Given the description of an element on the screen output the (x, y) to click on. 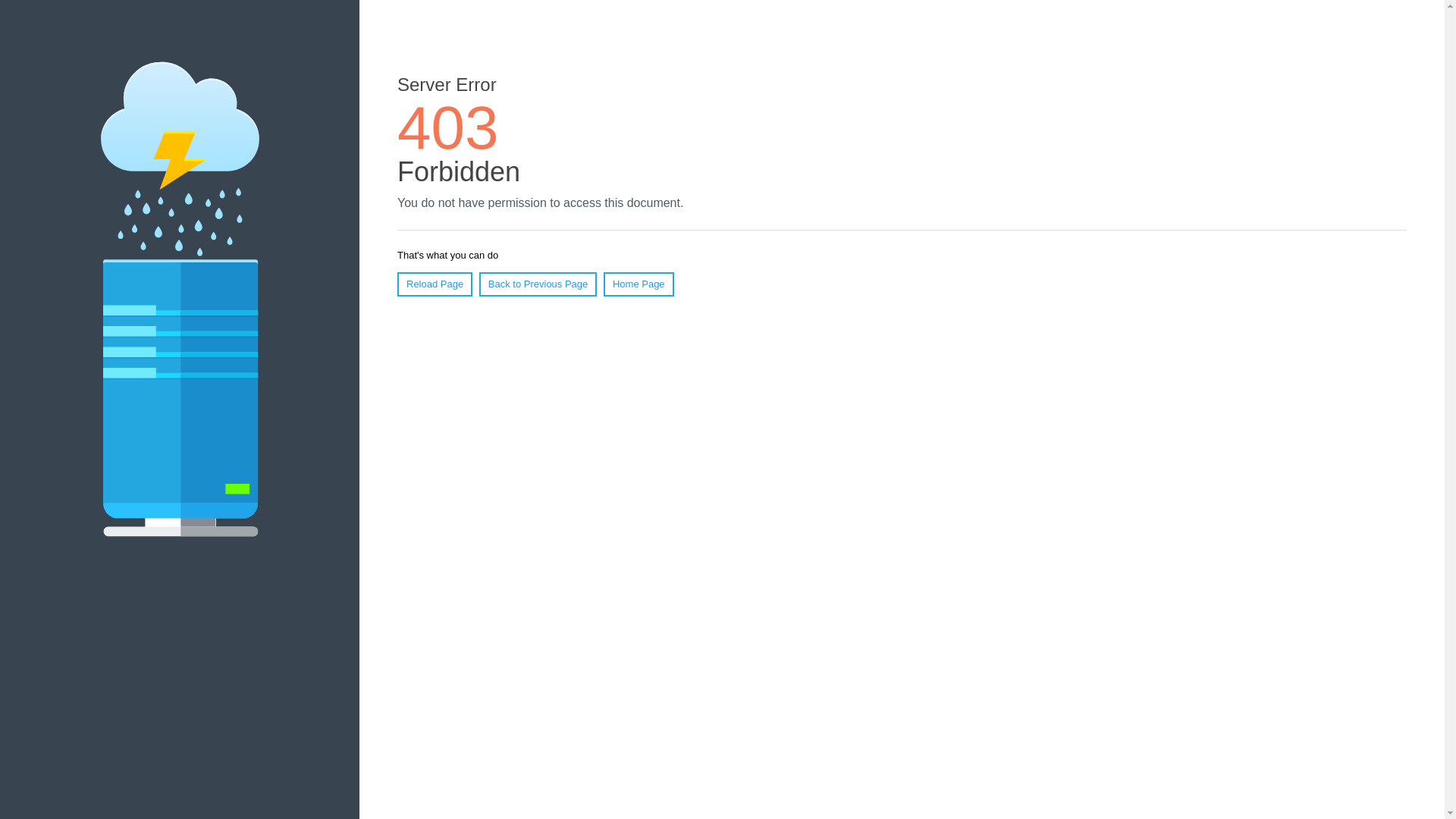
Home Page Element type: text (638, 284)
Reload Page Element type: text (434, 284)
Back to Previous Page Element type: text (538, 284)
